Given the description of an element on the screen output the (x, y) to click on. 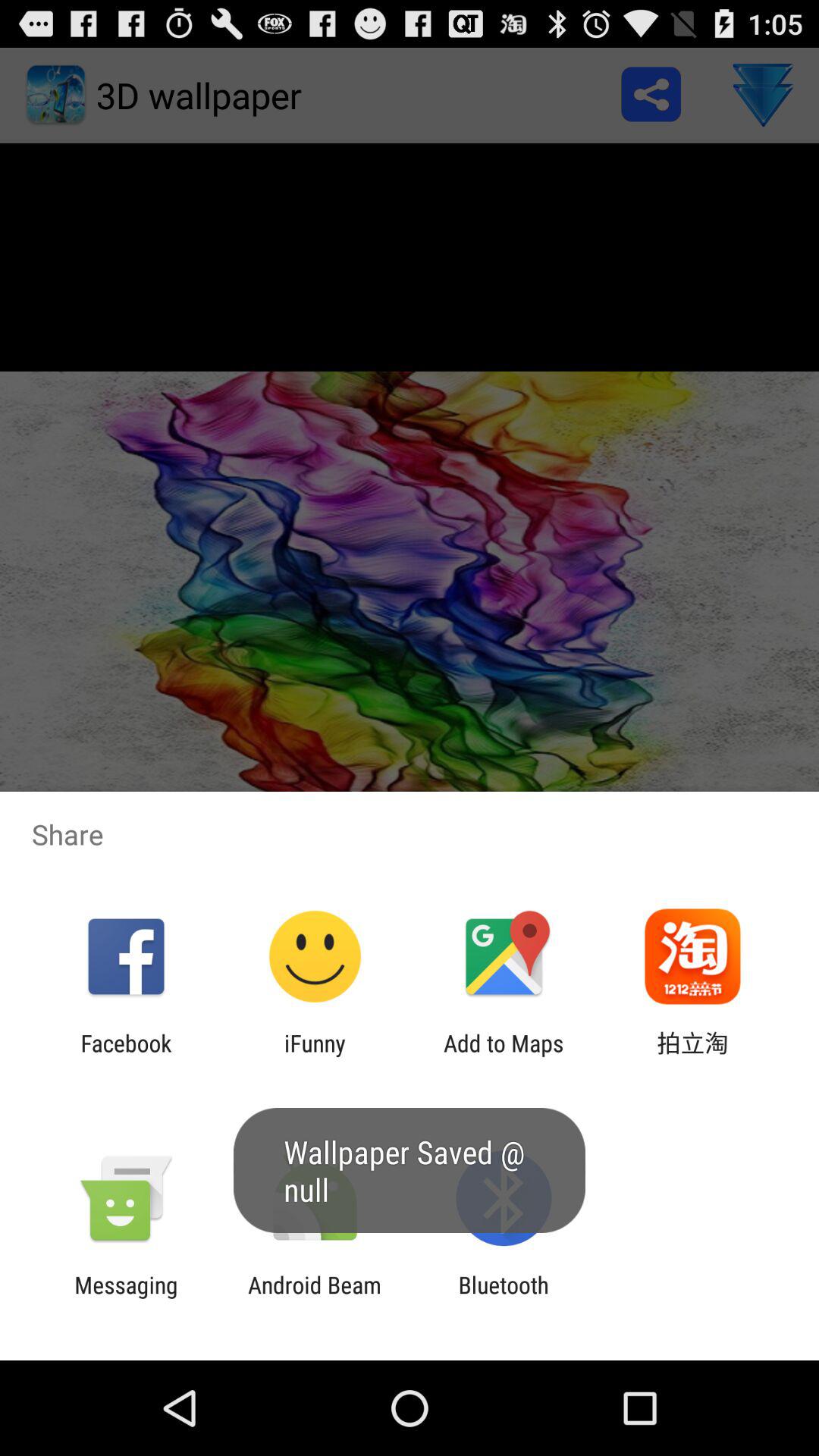
press the bluetooth app (503, 1298)
